Given the description of an element on the screen output the (x, y) to click on. 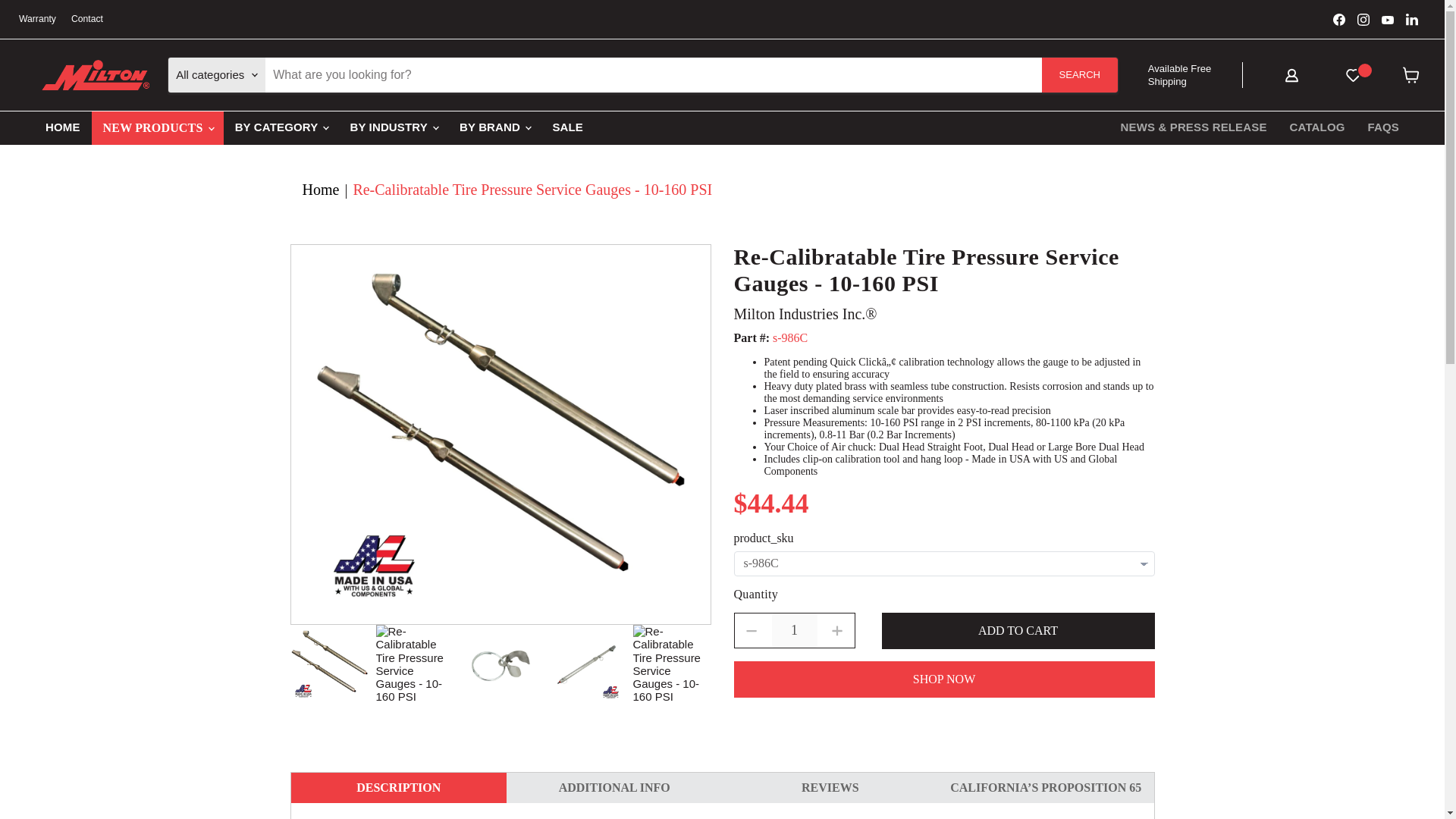
Find us on Instagram (1363, 19)
HOME (62, 126)
LinkedIn (1411, 19)
Facebook (1338, 19)
Find us on YouTube (1387, 19)
1 (793, 630)
View cart (1410, 78)
Contact (87, 18)
Find us on Facebook (1338, 19)
Warranty (37, 18)
Find us on LinkedIn (1411, 19)
YouTube (1387, 19)
SEARCH (1080, 74)
Instagram (1363, 19)
